Given the description of an element on the screen output the (x, y) to click on. 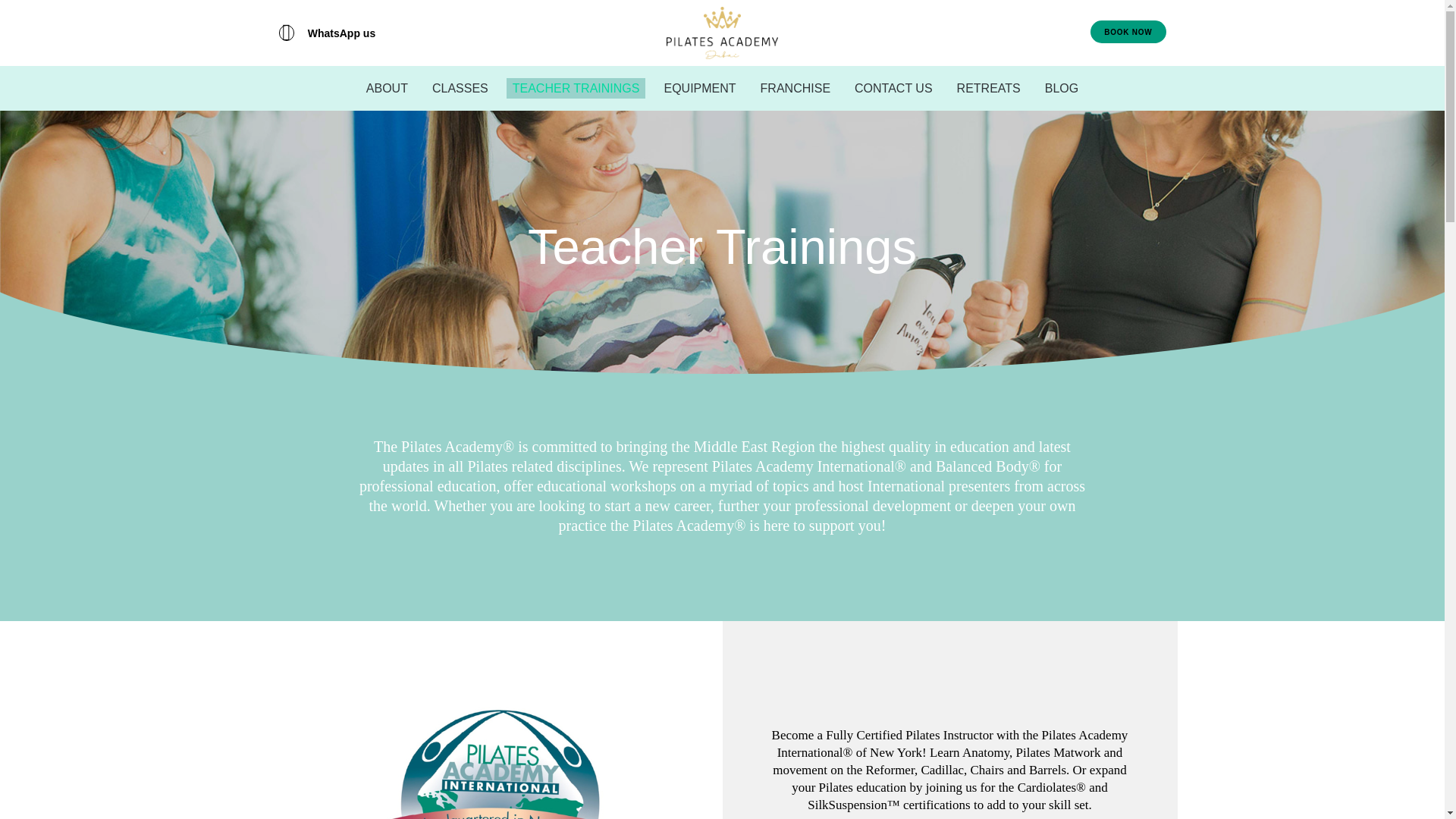
TEACHER TRAININGS (576, 87)
ABOUT (386, 87)
CONTACT US (893, 87)
BLOG (1061, 87)
FRANCHISE (794, 87)
BOOK NOW (1128, 31)
CLASSES (460, 87)
RETREATS (988, 87)
EQUIPMENT (699, 87)
WhatsApp us (327, 32)
